Given the description of an element on the screen output the (x, y) to click on. 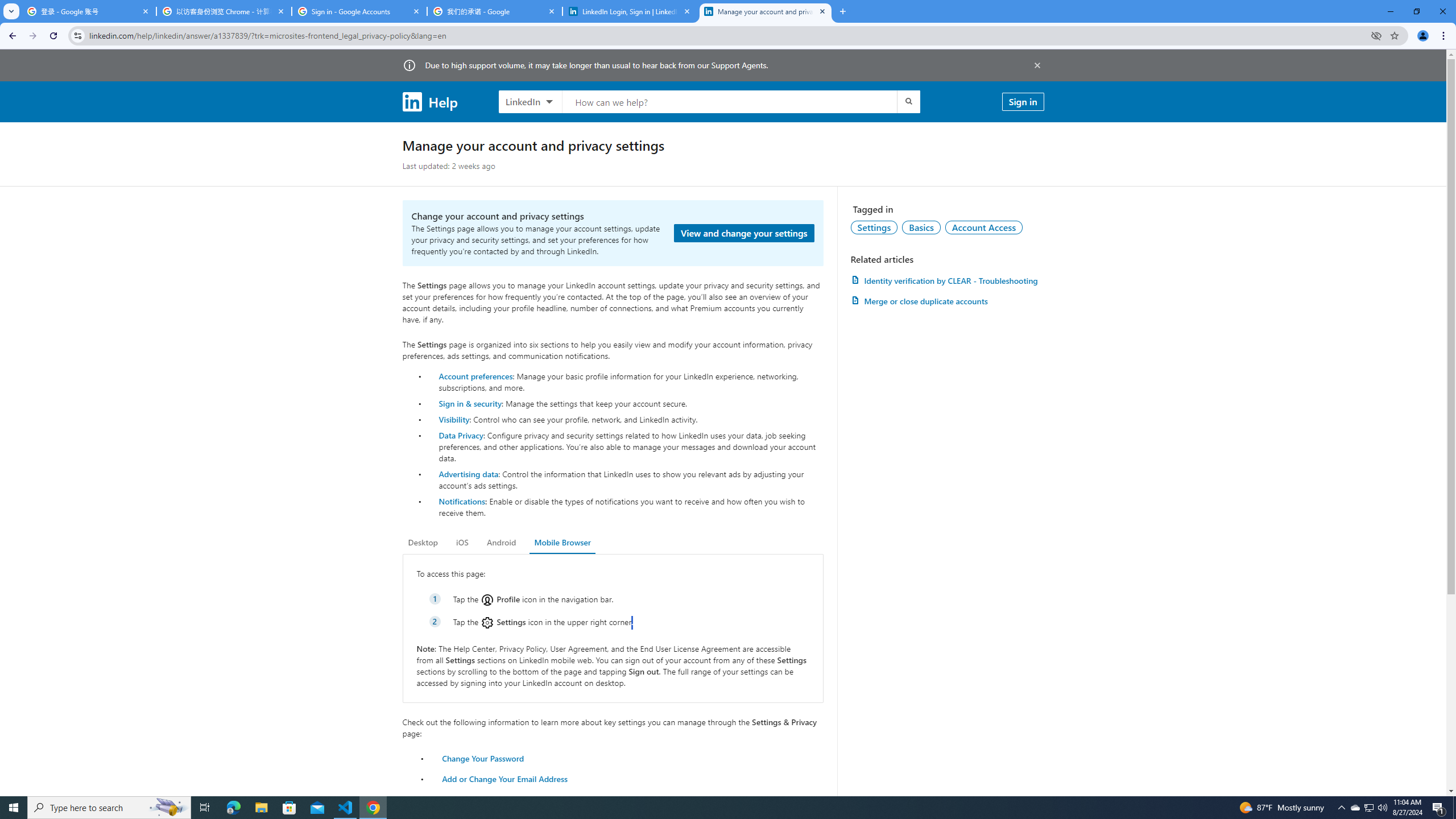
AutomationID: topic-link-a151002 (983, 227)
Advertising data (468, 473)
iOS (462, 542)
Add or Change Your Email Address (504, 778)
Change Your Password (483, 758)
Basics (921, 227)
LinkedIn Login, Sign in | LinkedIn (630, 11)
Visibility (454, 419)
